Given the description of an element on the screen output the (x, y) to click on. 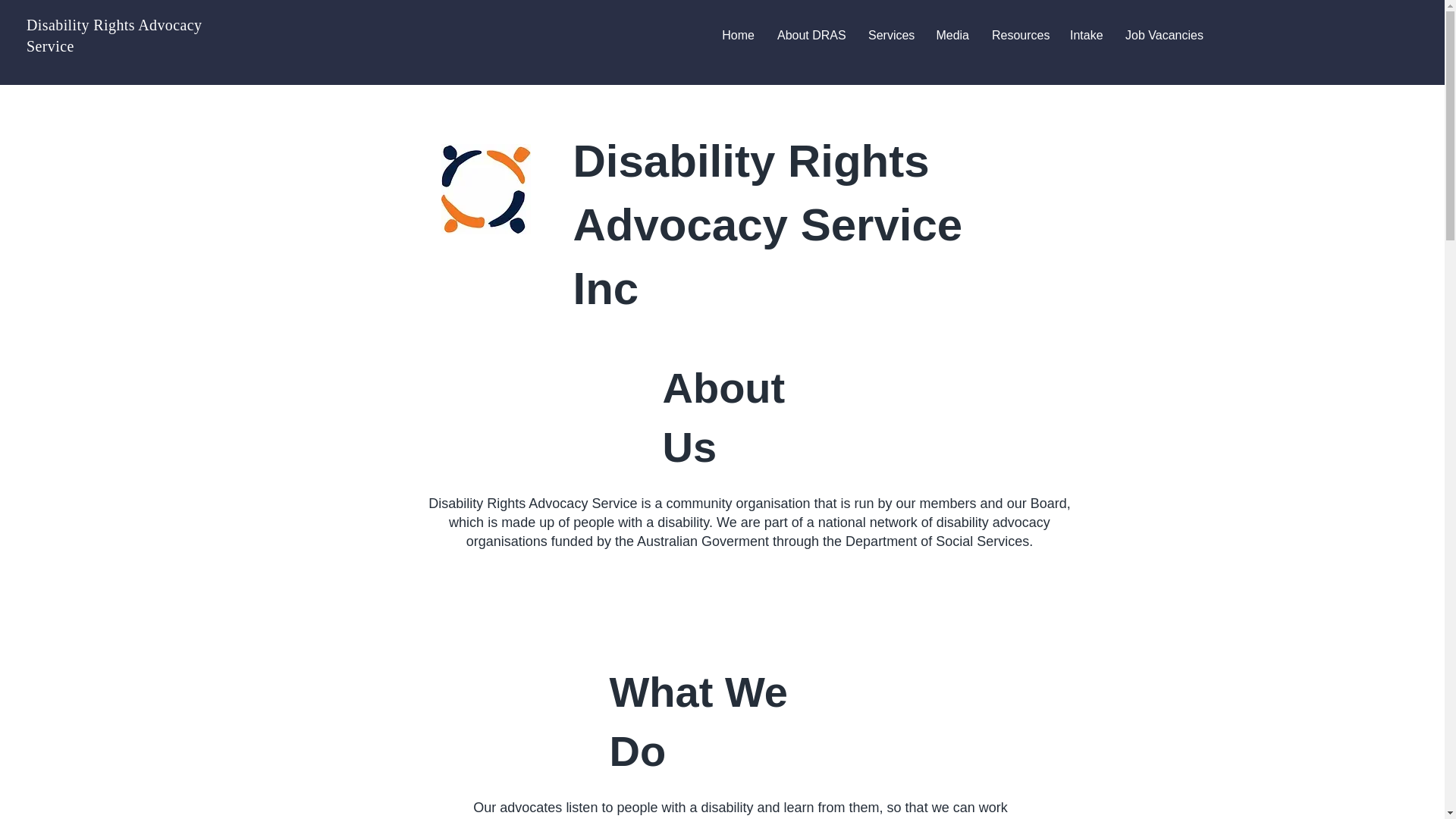
Job Vacancies (1162, 34)
Intake (1085, 34)
Disability Rights Advocacy Service (114, 35)
Home (737, 34)
